Given the description of an element on the screen output the (x, y) to click on. 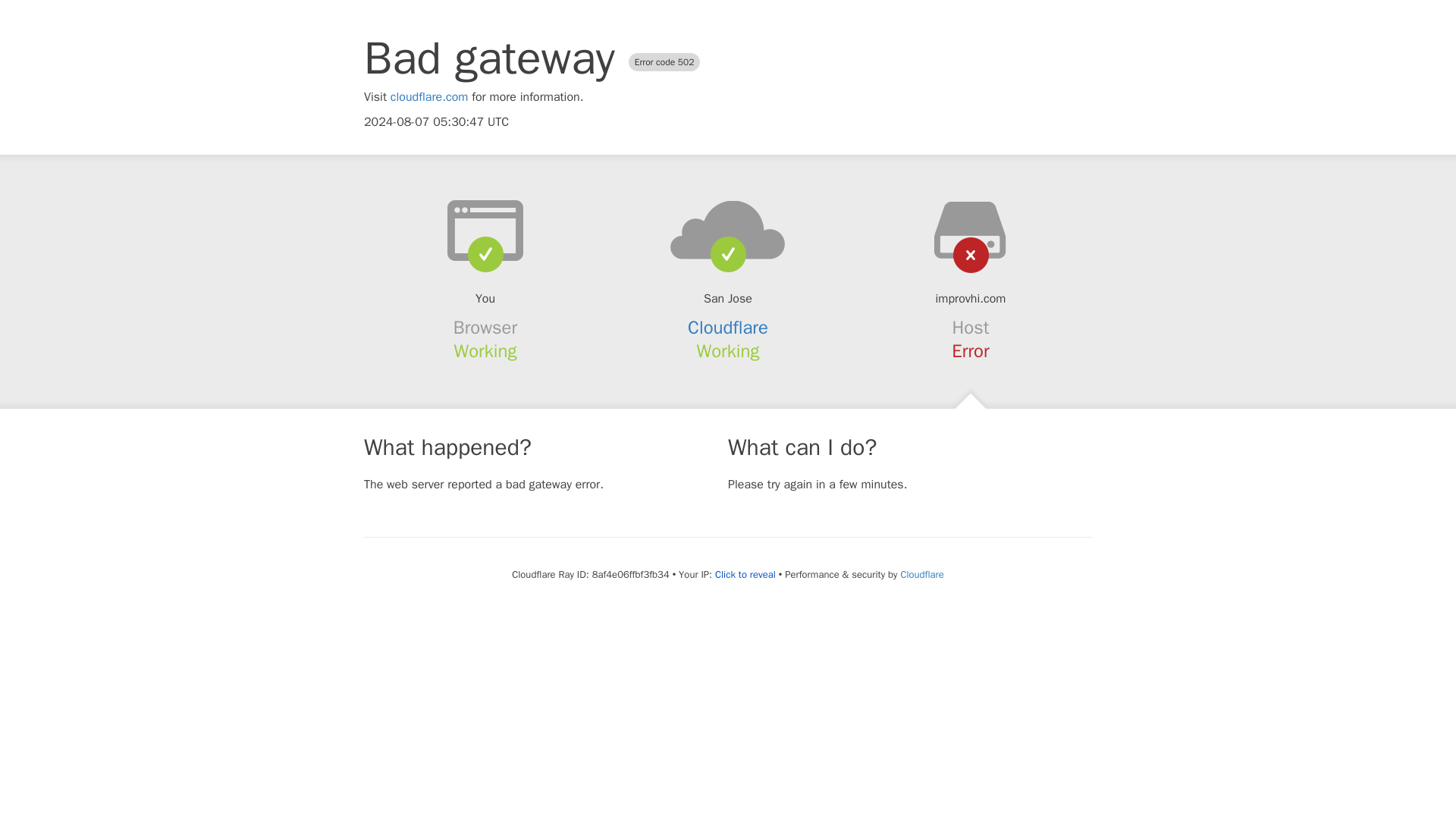
Cloudflare (921, 574)
Cloudflare (727, 327)
cloudflare.com (429, 96)
Click to reveal (745, 574)
